Given the description of an element on the screen output the (x, y) to click on. 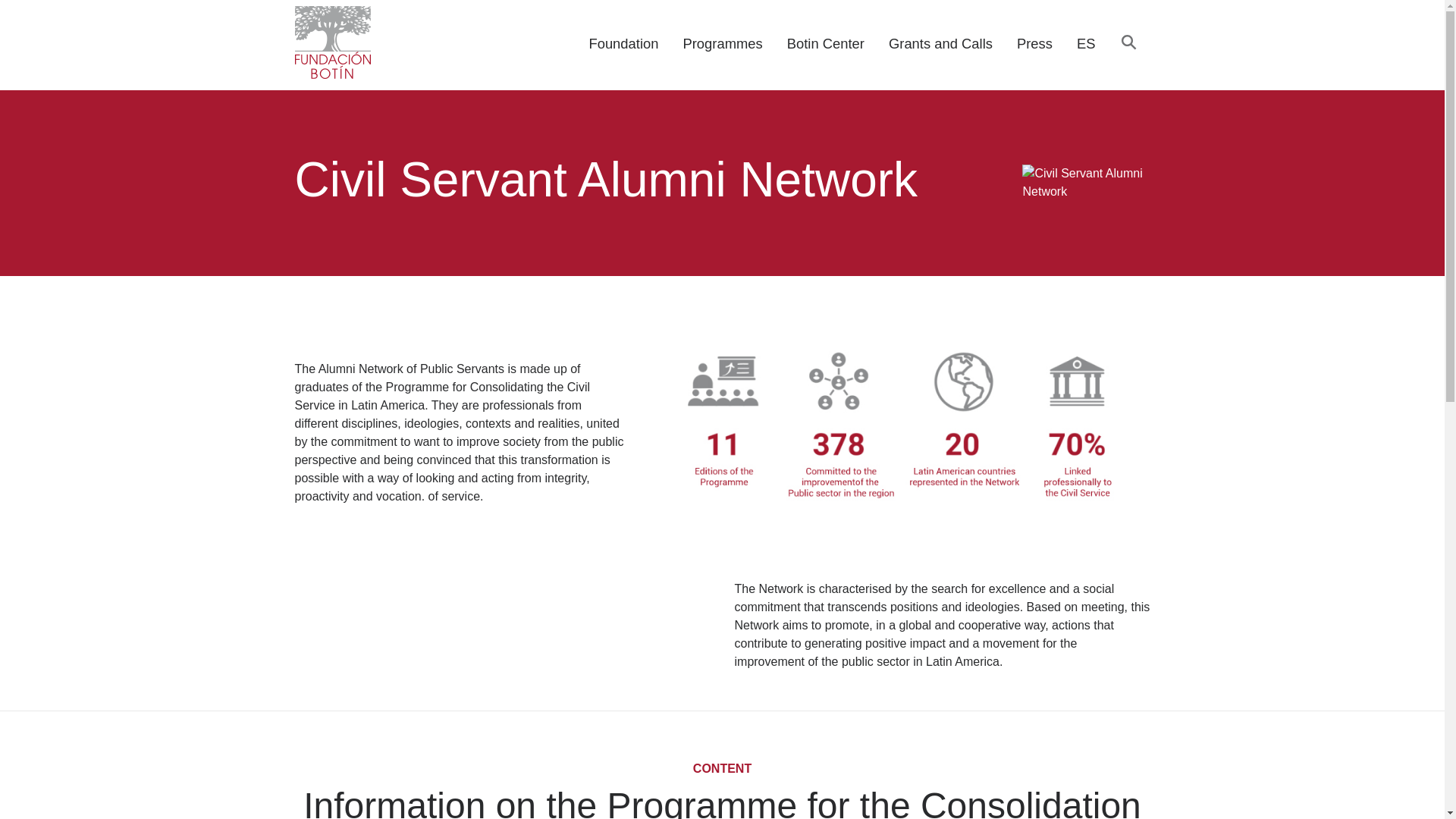
Programmes (721, 43)
ES (1086, 43)
Foundation (622, 43)
